Given the description of an element on the screen output the (x, y) to click on. 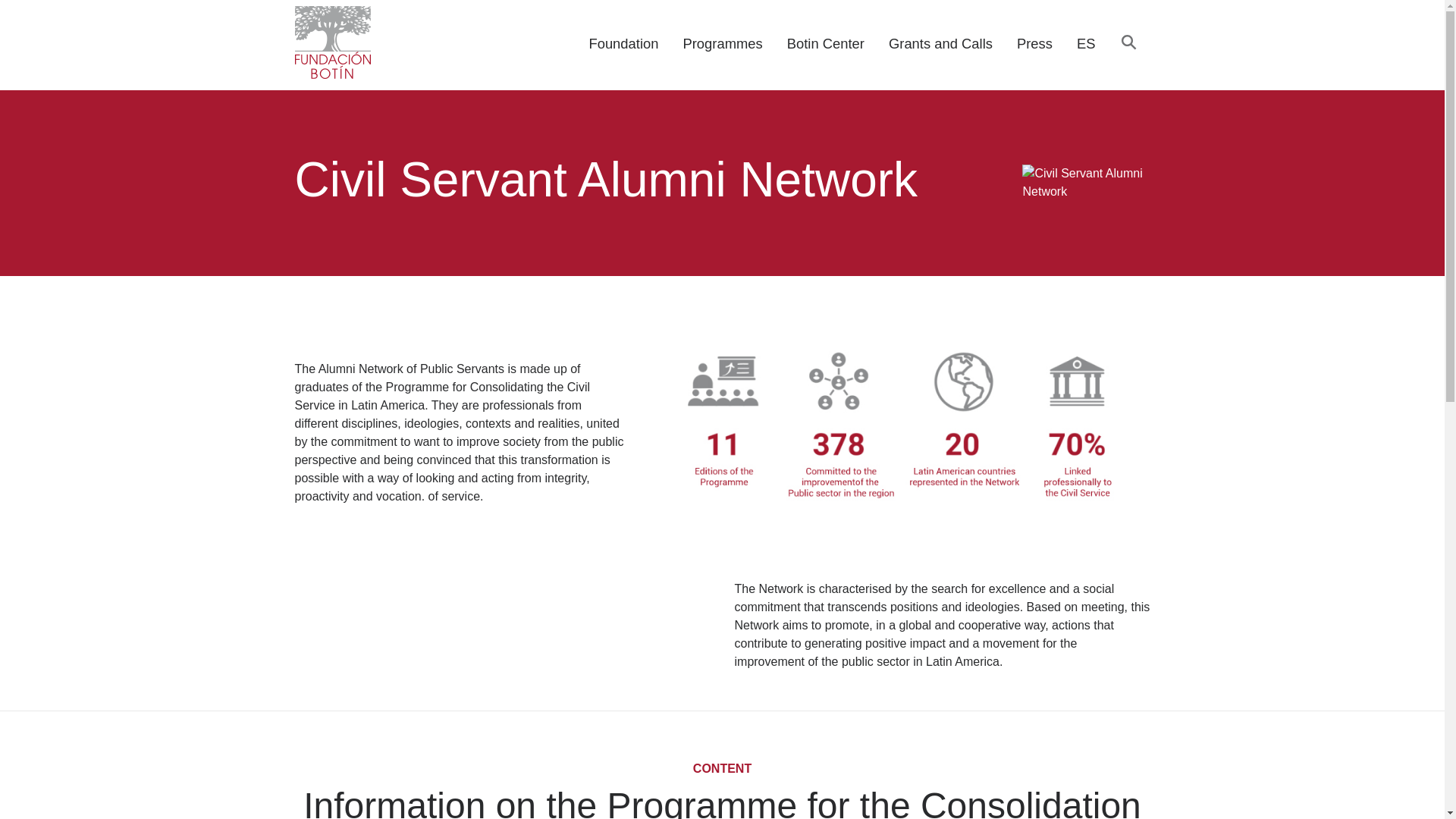
Programmes (721, 43)
ES (1086, 43)
Foundation (622, 43)
